Given the description of an element on the screen output the (x, y) to click on. 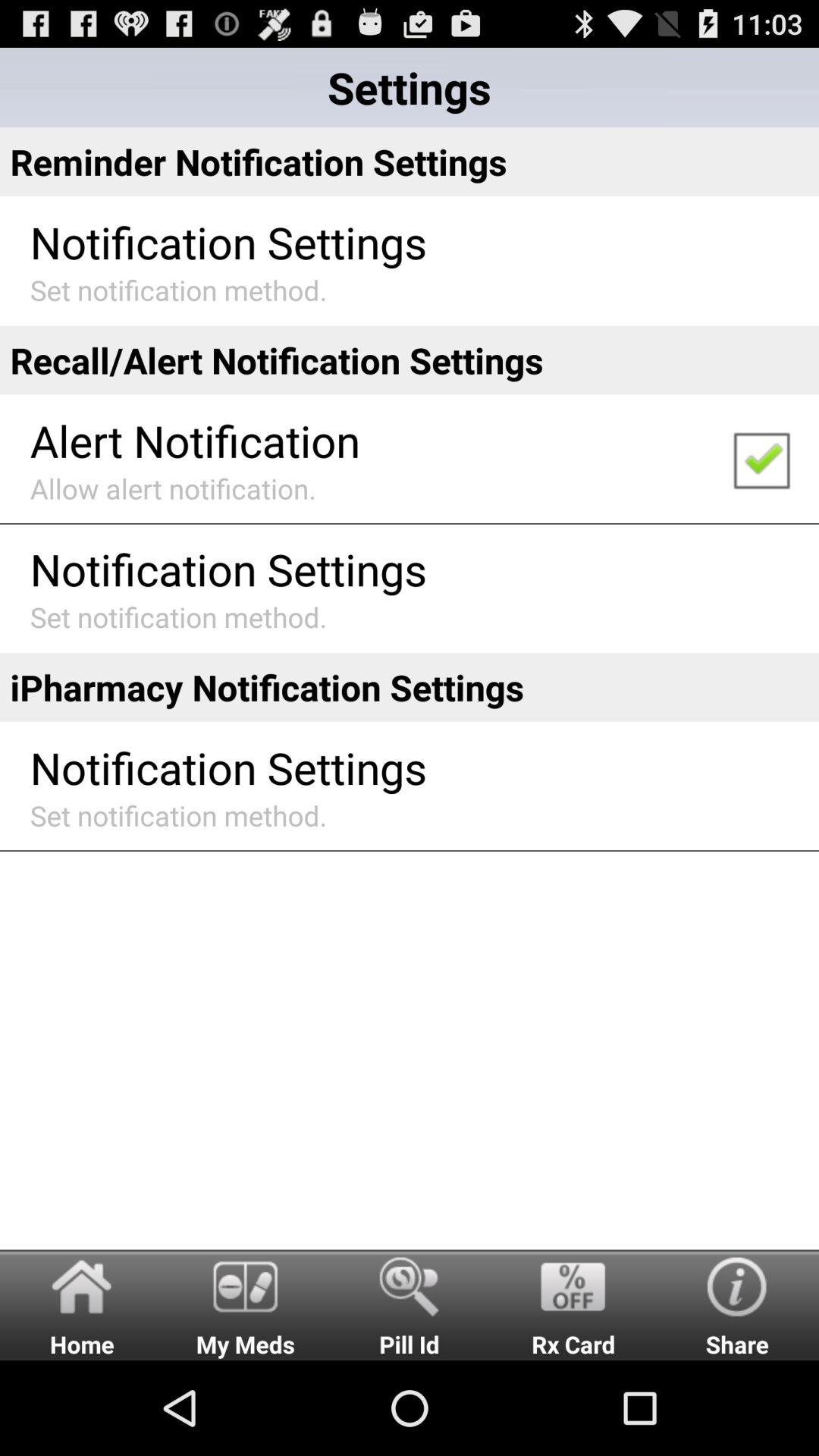
swipe to the pill id radio button (409, 1304)
